Given the description of an element on the screen output the (x, y) to click on. 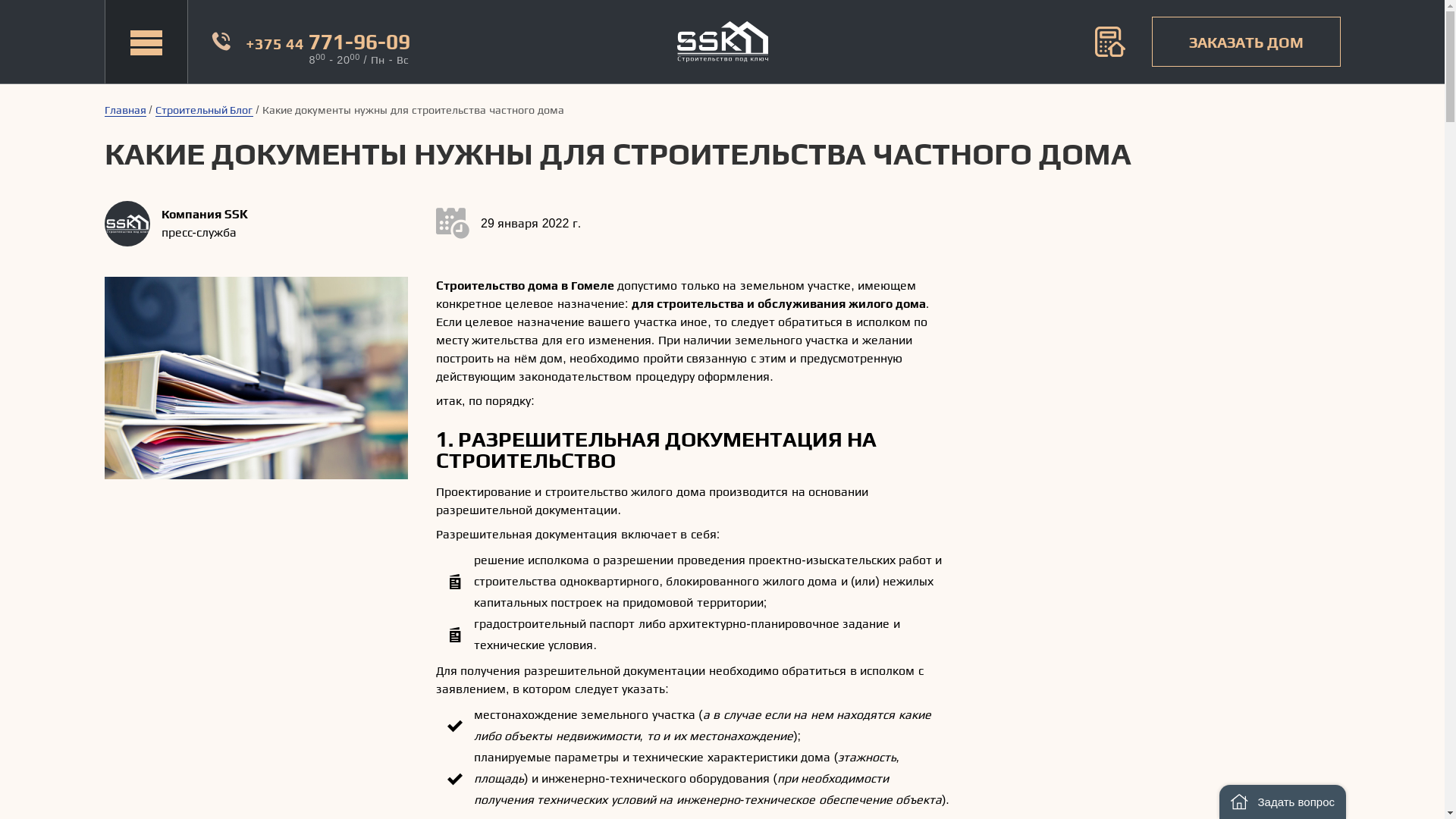
+375 44 771-96-09 Element type: text (327, 41)
SSK Element type: hover (721, 40)
